Given the description of an element on the screen output the (x, y) to click on. 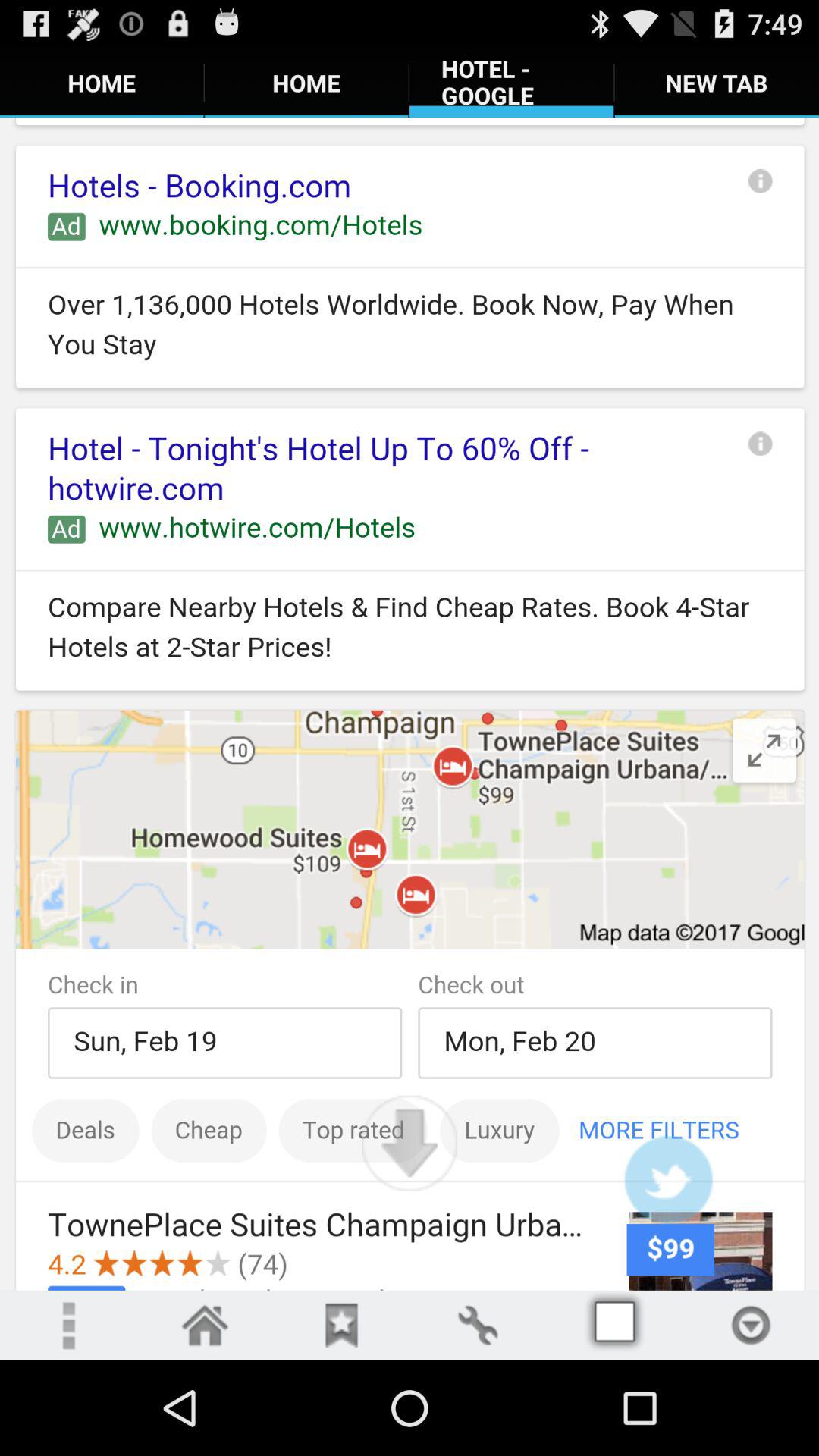
go to home page (204, 1325)
